Given the description of an element on the screen output the (x, y) to click on. 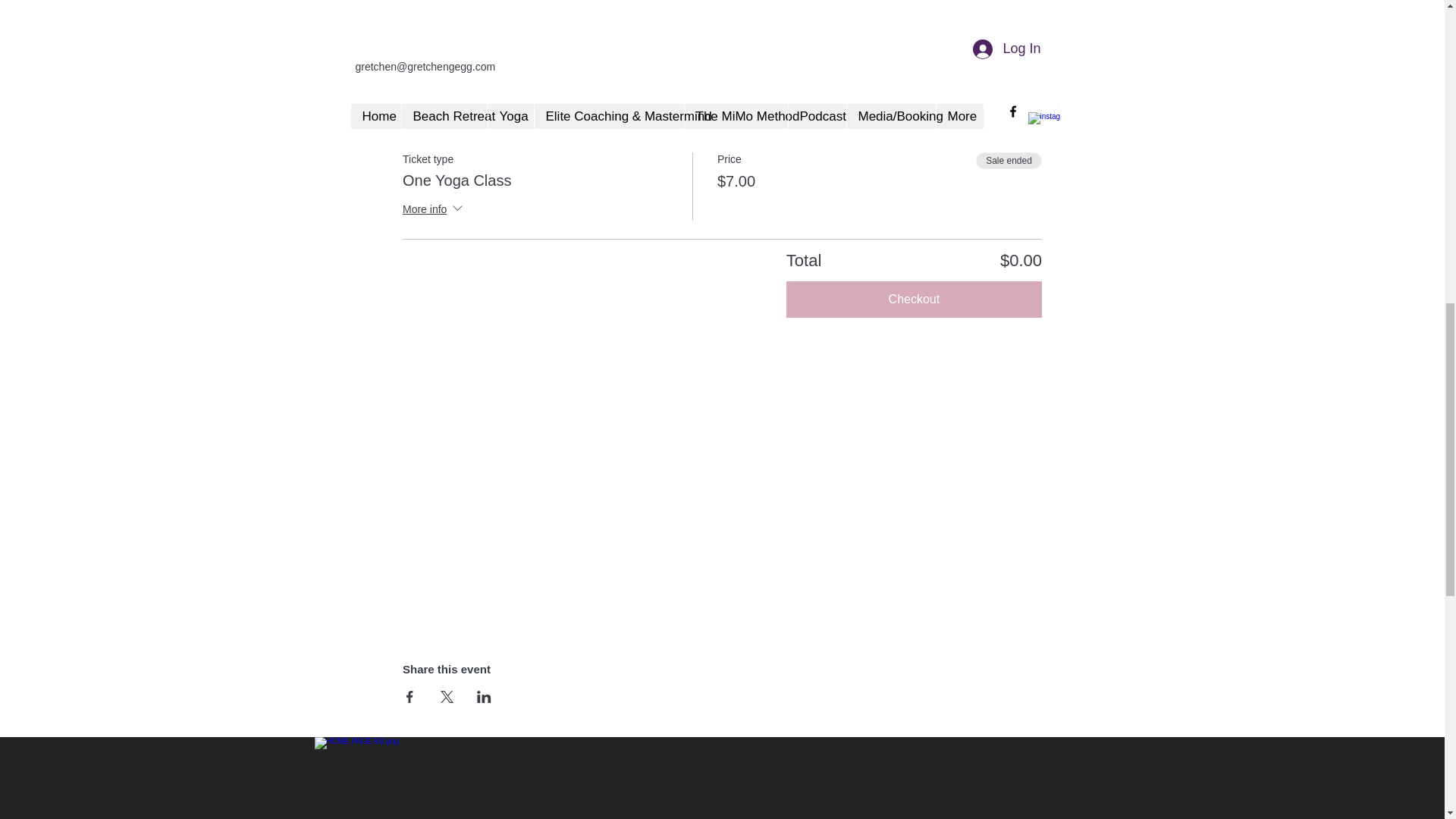
Checkout (914, 299)
More info (434, 209)
